Given the description of an element on the screen output the (x, y) to click on. 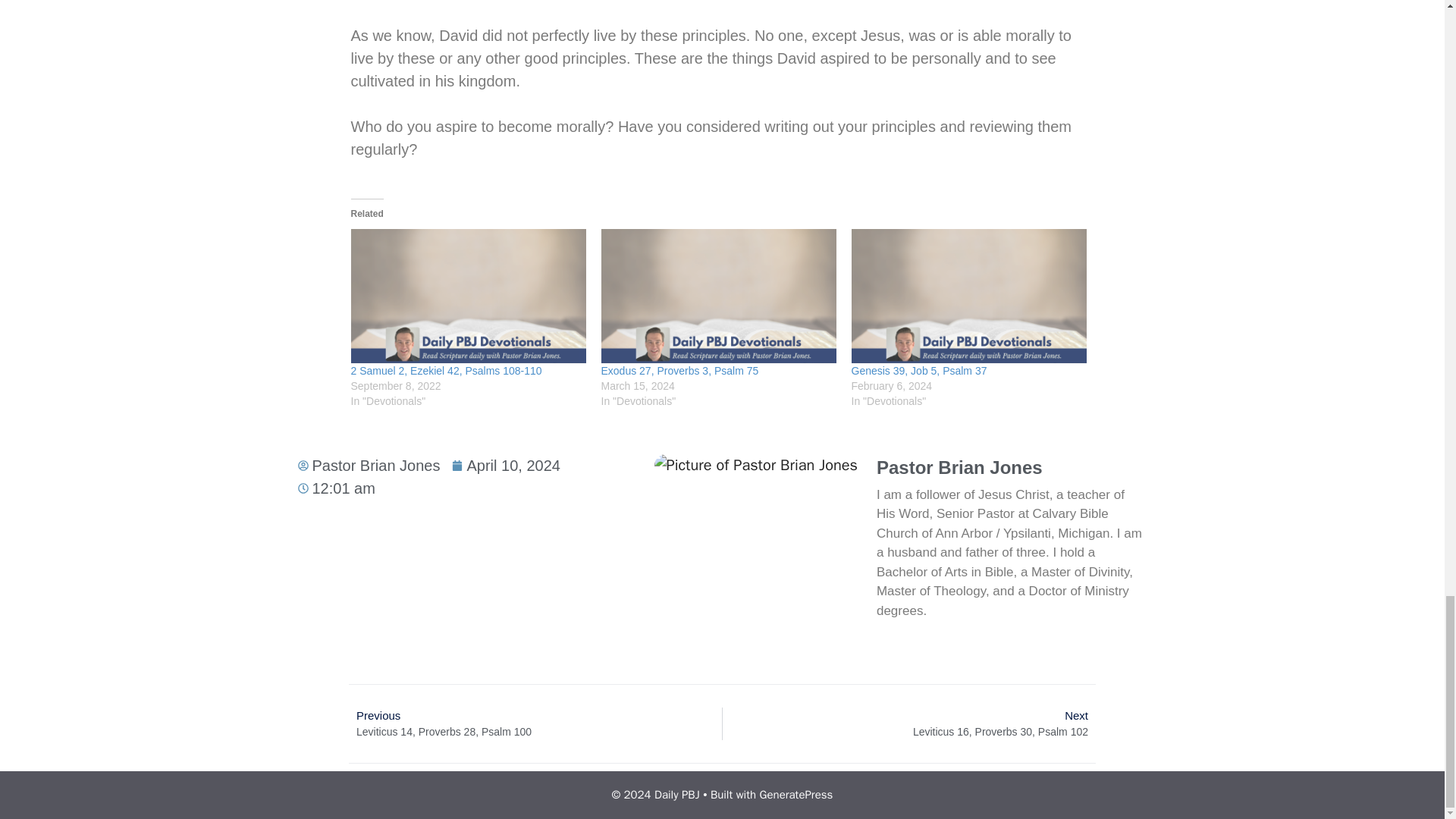
2 Samuel 2, Ezekiel 42, Psalms 108-110 (445, 370)
Exodus 27, Proverbs 3, Psalm 75 (717, 296)
Genesis 39, Job 5, Psalm 37 (918, 370)
Exodus 27, Proverbs 3, Psalm 75 (678, 370)
2 Samuel 2, Ezekiel 42, Psalms 108-110 (445, 370)
Exodus 27, Proverbs 3, Psalm 75 (678, 370)
Genesis 39, Job 5, Psalm 37 (968, 296)
2 Samuel 2, Ezekiel 42, Psalms 108-110 (467, 296)
